Given the description of an element on the screen output the (x, y) to click on. 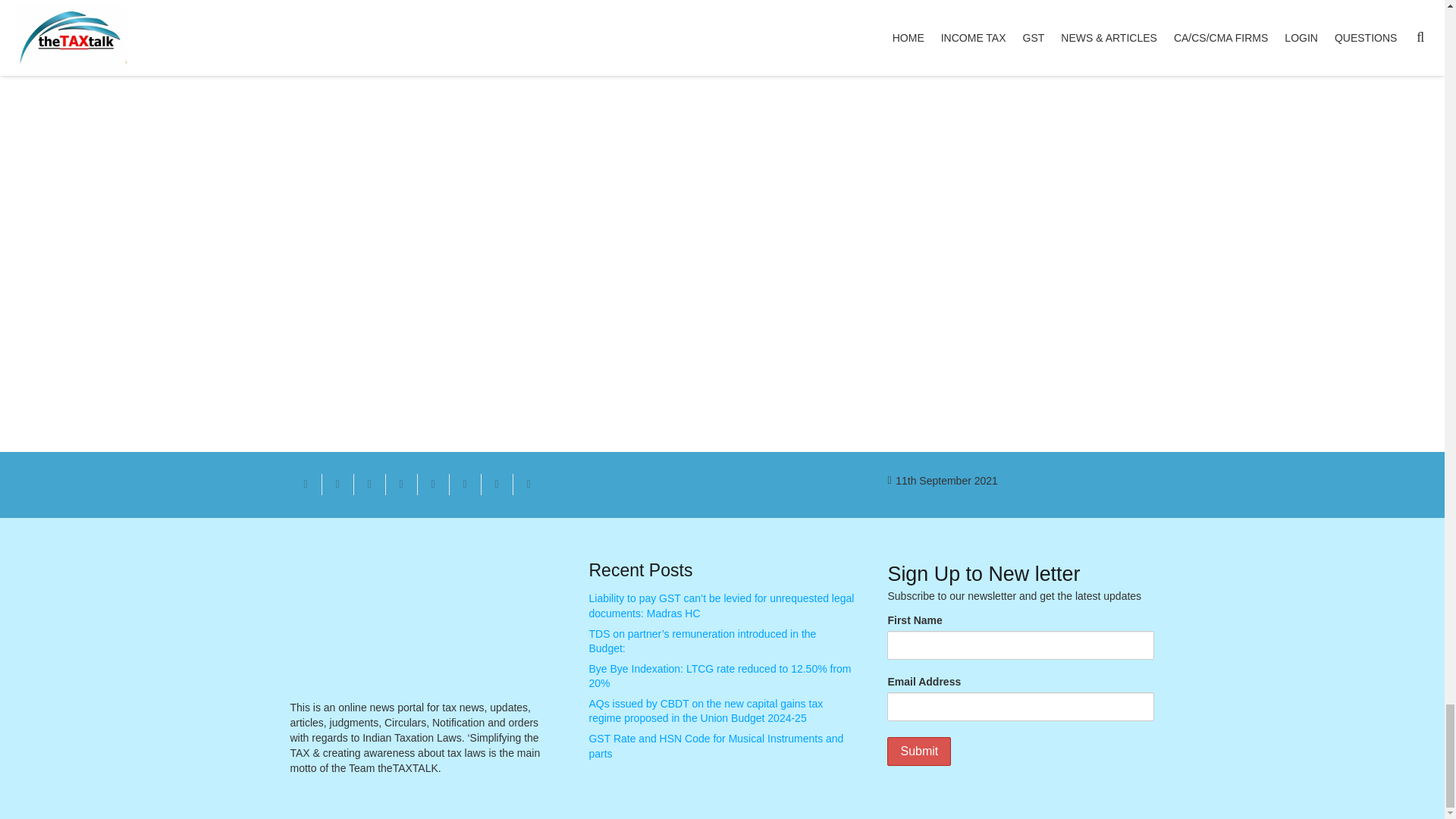
Pin this (432, 484)
Email this (305, 484)
Submit (918, 750)
Share this (528, 484)
Share this (400, 484)
Share this (496, 484)
Share this (464, 484)
Tweet this (369, 484)
Share this (337, 484)
